Given the description of an element on the screen output the (x, y) to click on. 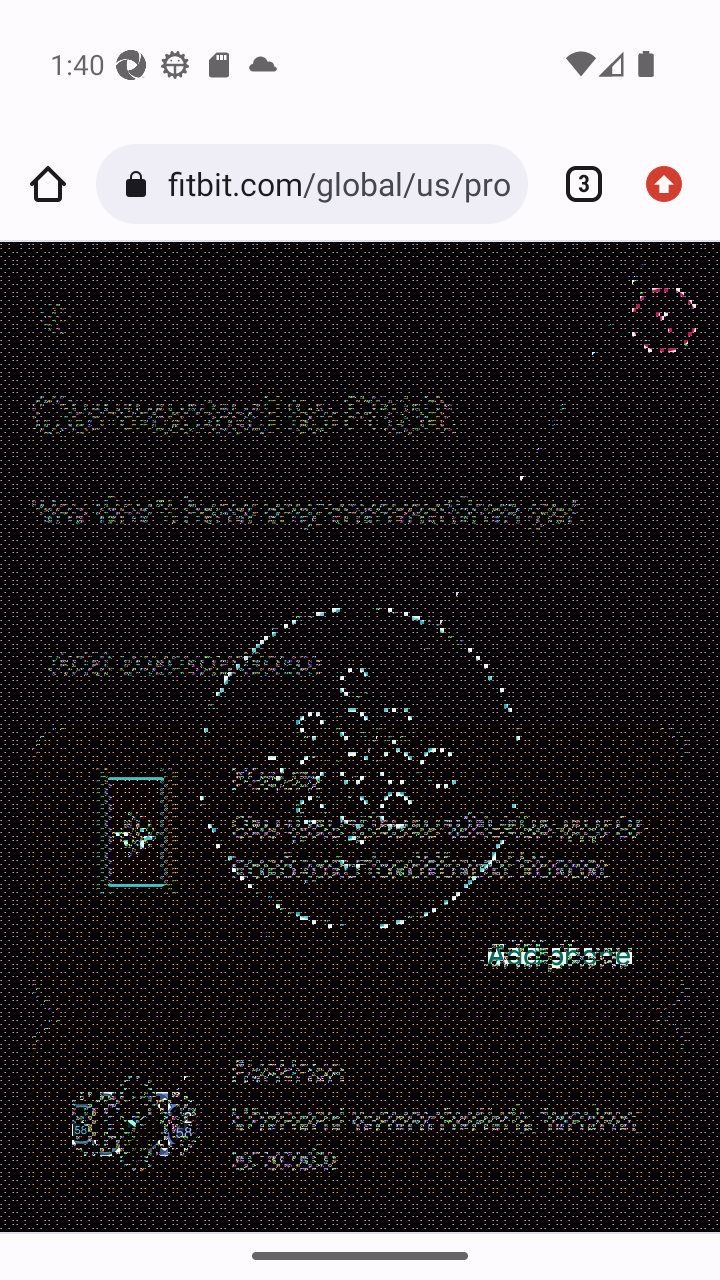
Home (47, 184)
Connection is secure (139, 184)
Switch or close tabs (575, 184)
Update available. More options (672, 184)
fitbit.com/global/us/products (339, 184)
